Given the description of an element on the screen output the (x, y) to click on. 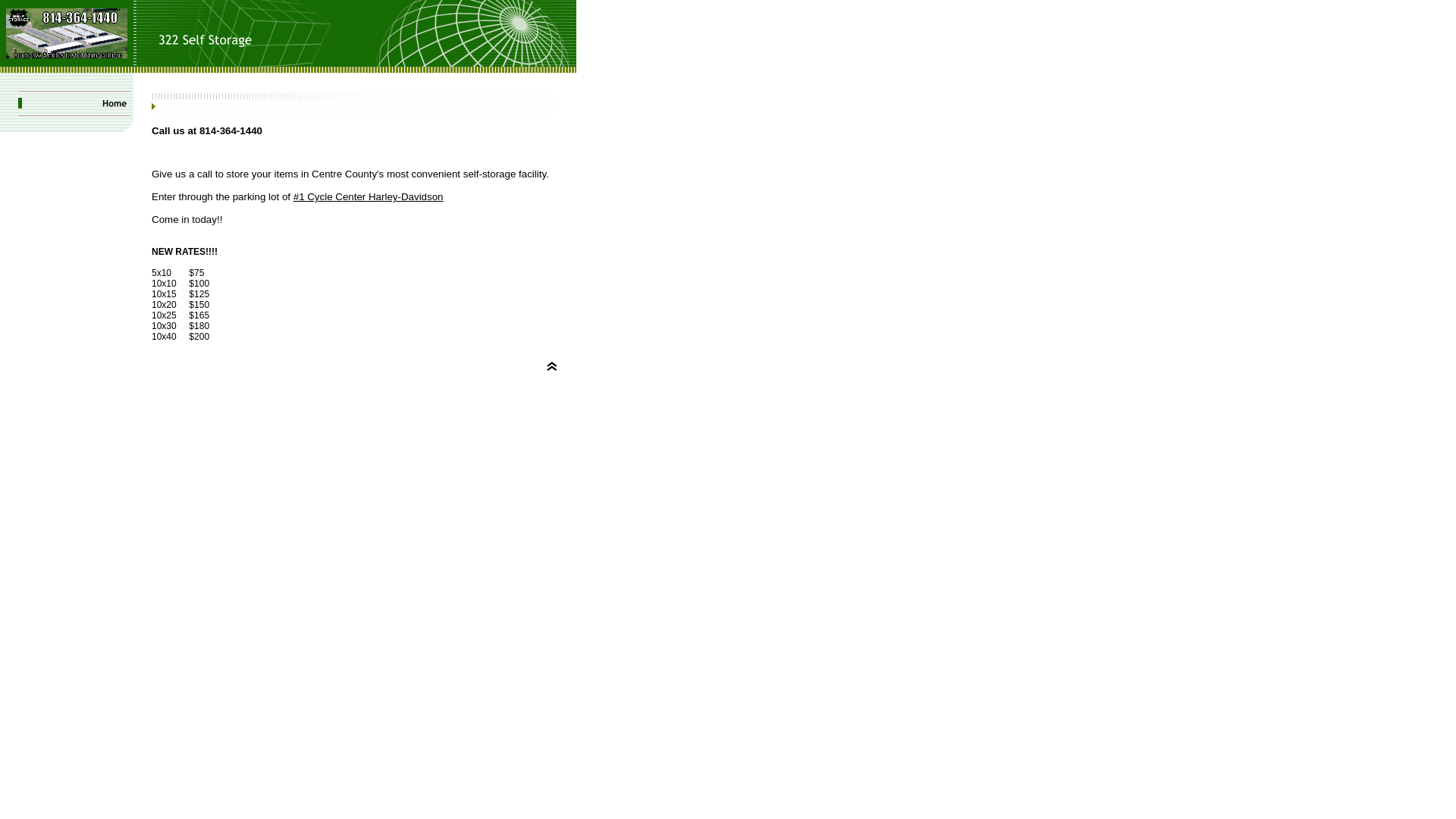
#1 Cycle Center Harley-Davidson Element type: text (368, 196)
